Given the description of an element on the screen output the (x, y) to click on. 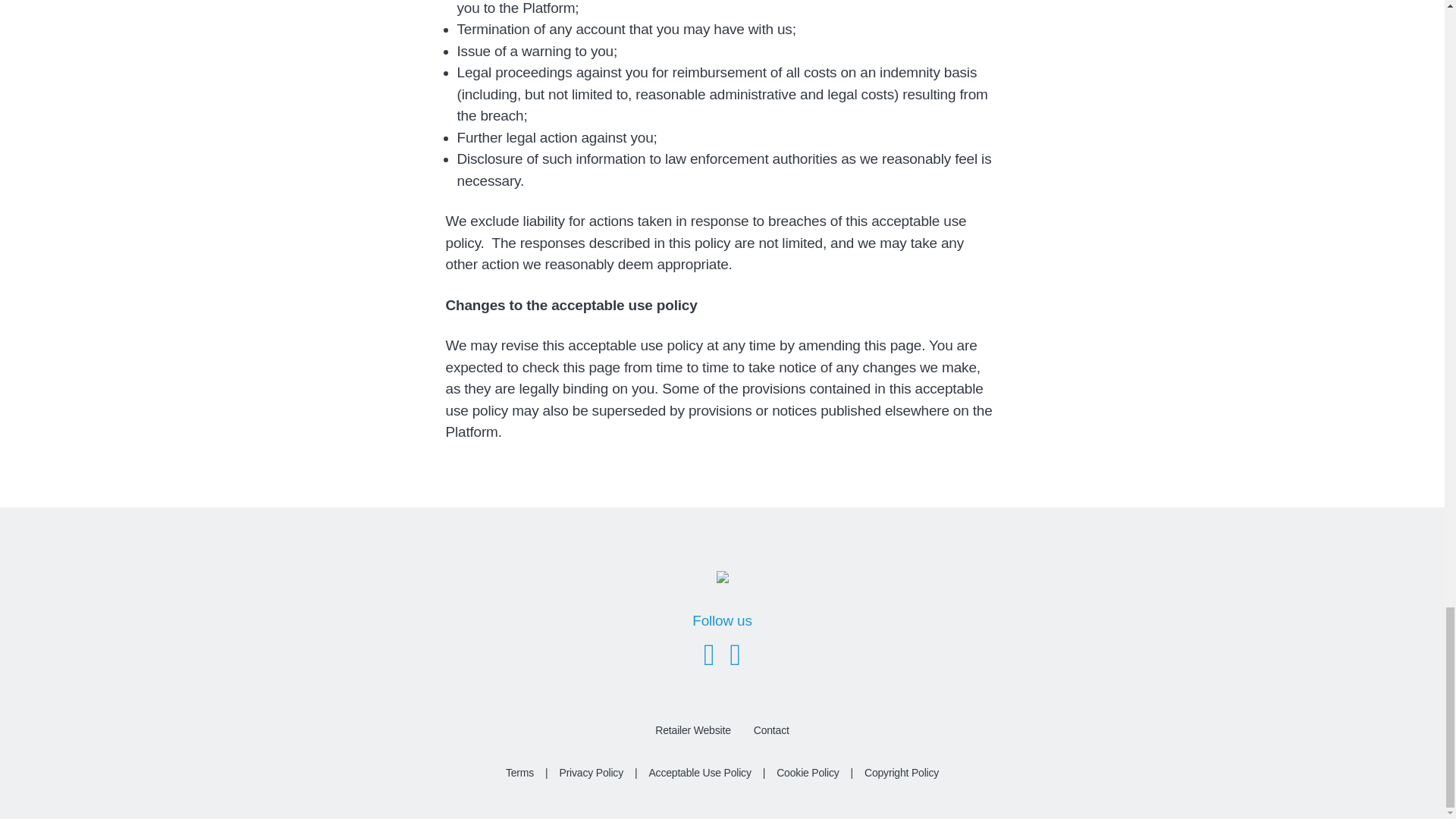
Privacy Policy (590, 772)
Cookie Policy (807, 772)
Retailer Website (692, 736)
Terms (519, 772)
Copyright Policy (901, 772)
Acceptable Use Policy (699, 772)
Contact (771, 736)
